Given the description of an element on the screen output the (x, y) to click on. 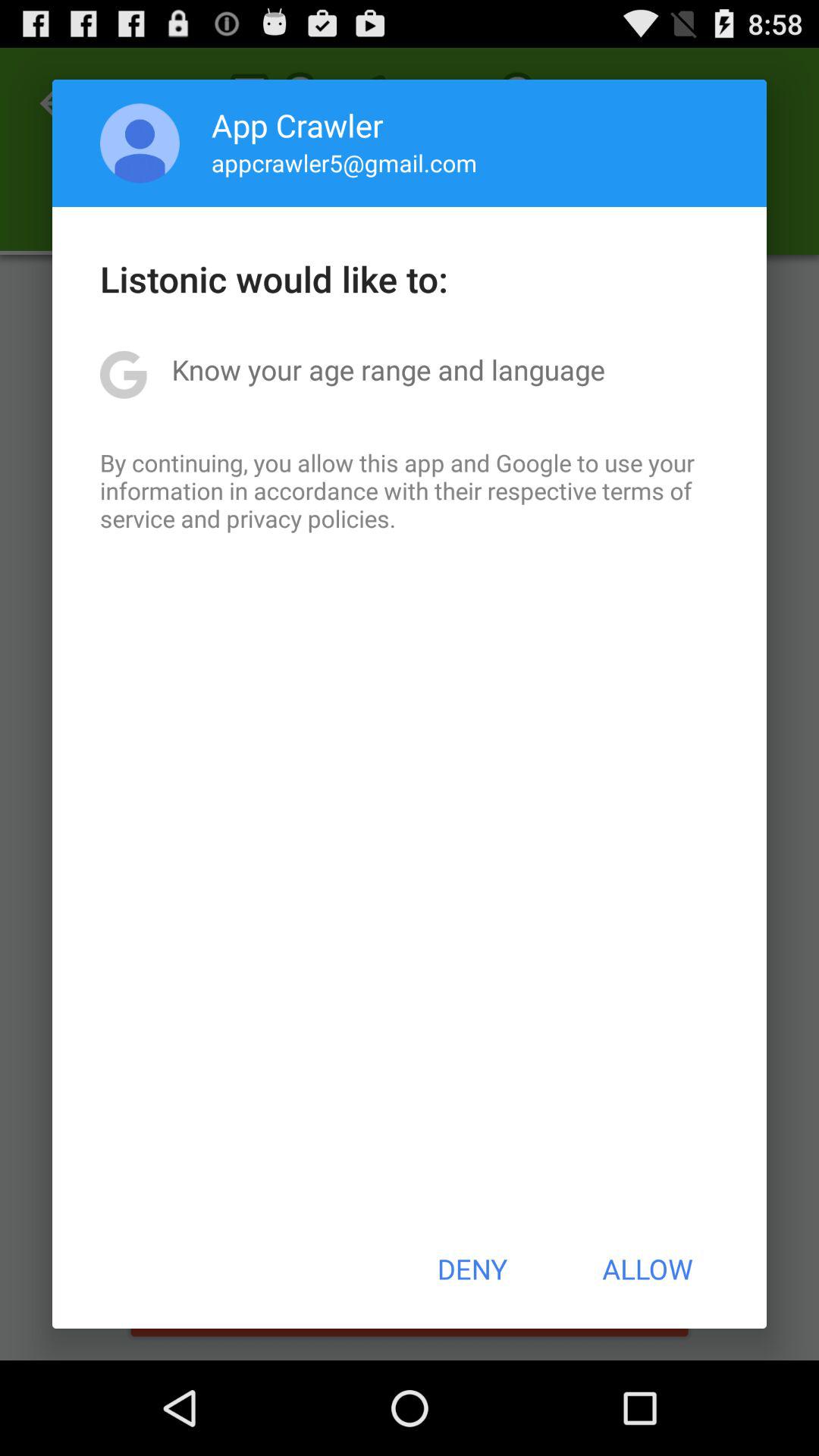
flip to the app crawler item (297, 124)
